Given the description of an element on the screen output the (x, y) to click on. 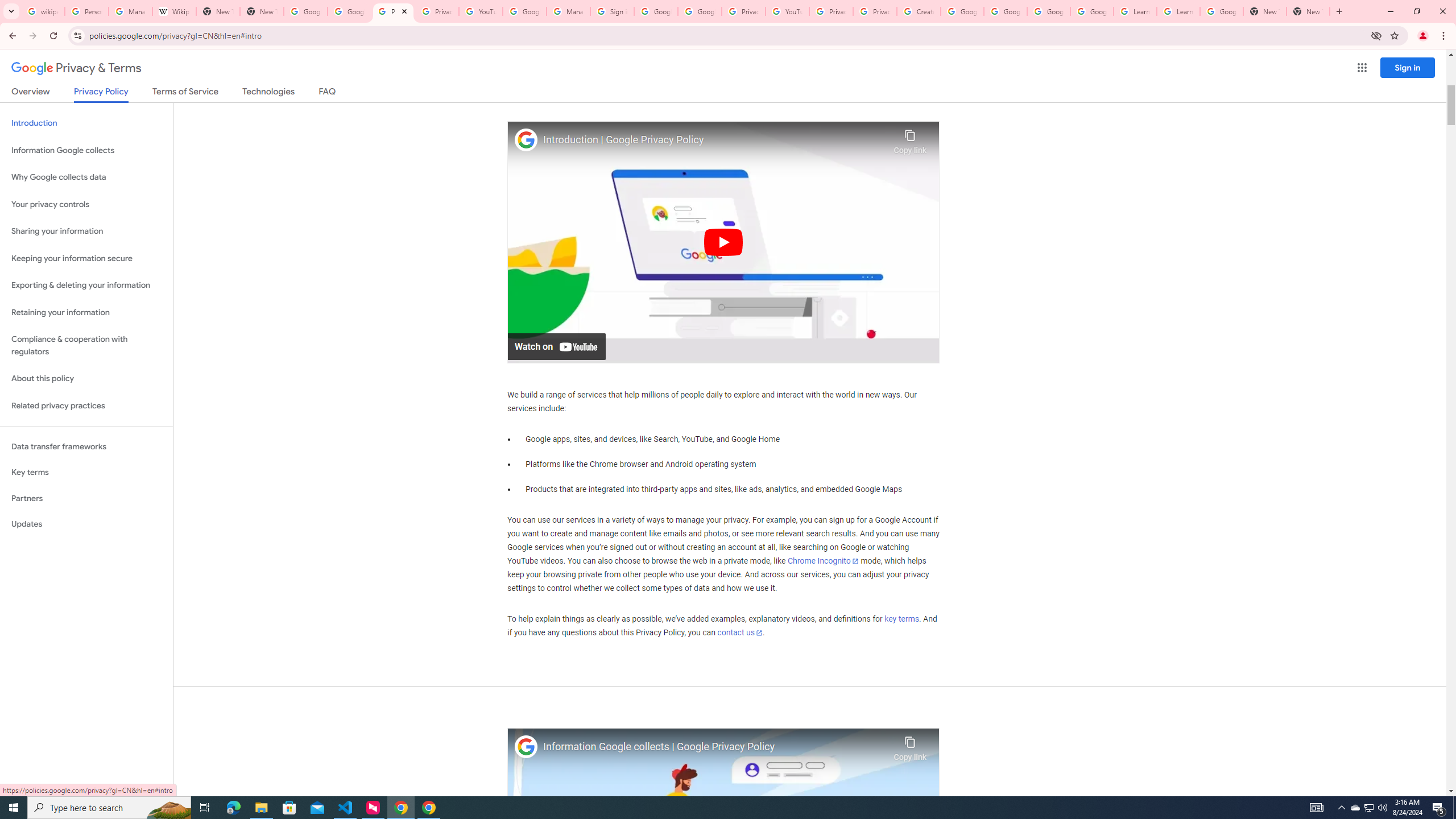
Google Drive: Sign-in (349, 11)
Retaining your information (86, 312)
Introduction | Google Privacy Policy (715, 139)
Google Account Help (524, 11)
Keeping your information secure (86, 258)
Compliance & cooperation with regulators (86, 345)
Sharing your information (86, 230)
YouTube (786, 11)
